Given the description of an element on the screen output the (x, y) to click on. 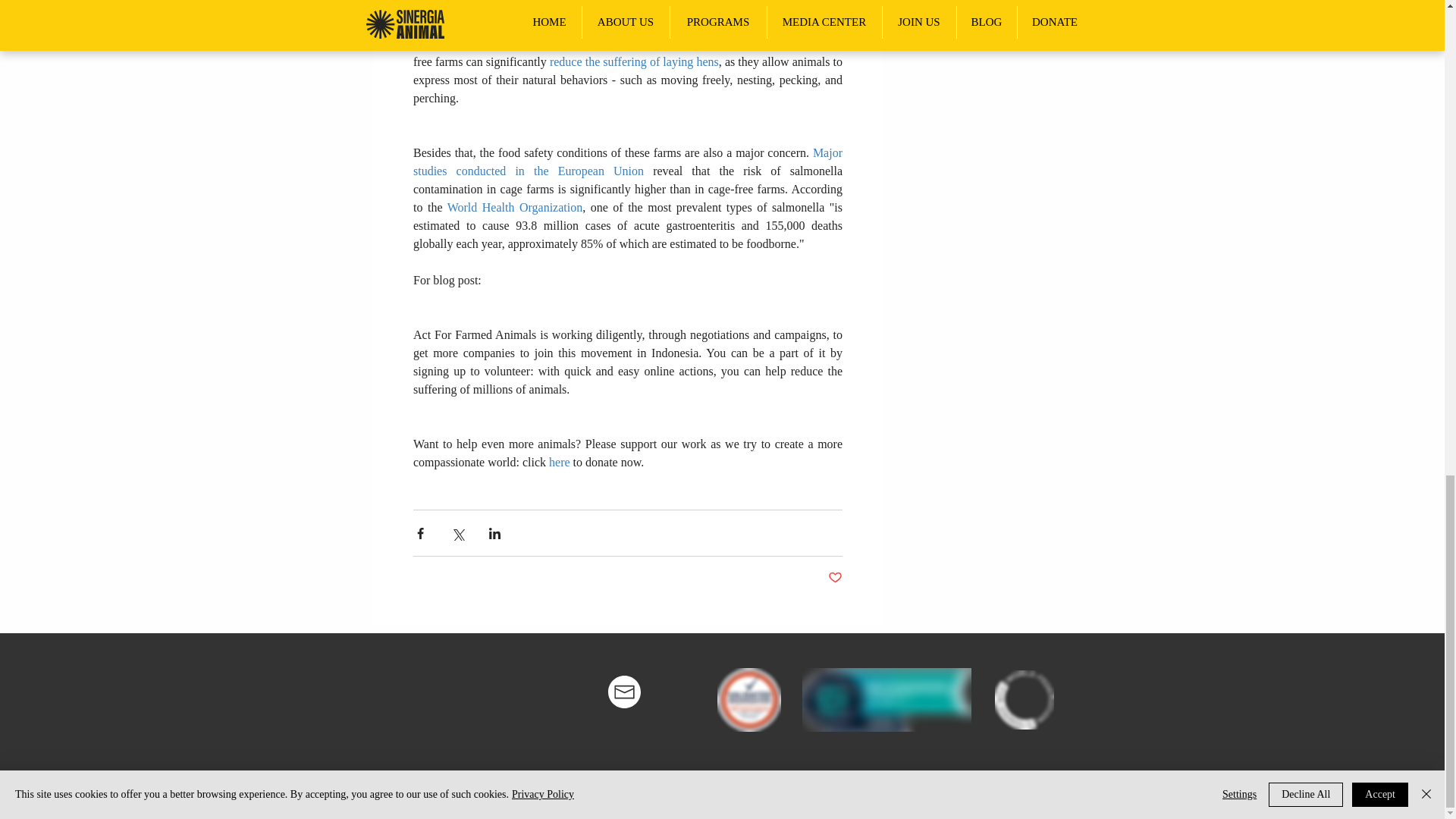
reduce the suffering of laying hens (632, 61)
Post not marked as liked (835, 578)
bone diseases and fractures (736, 42)
Major studies conducted in the European Union (628, 161)
 World Health Organization (512, 206)
here (559, 461)
